Given the description of an element on the screen output the (x, y) to click on. 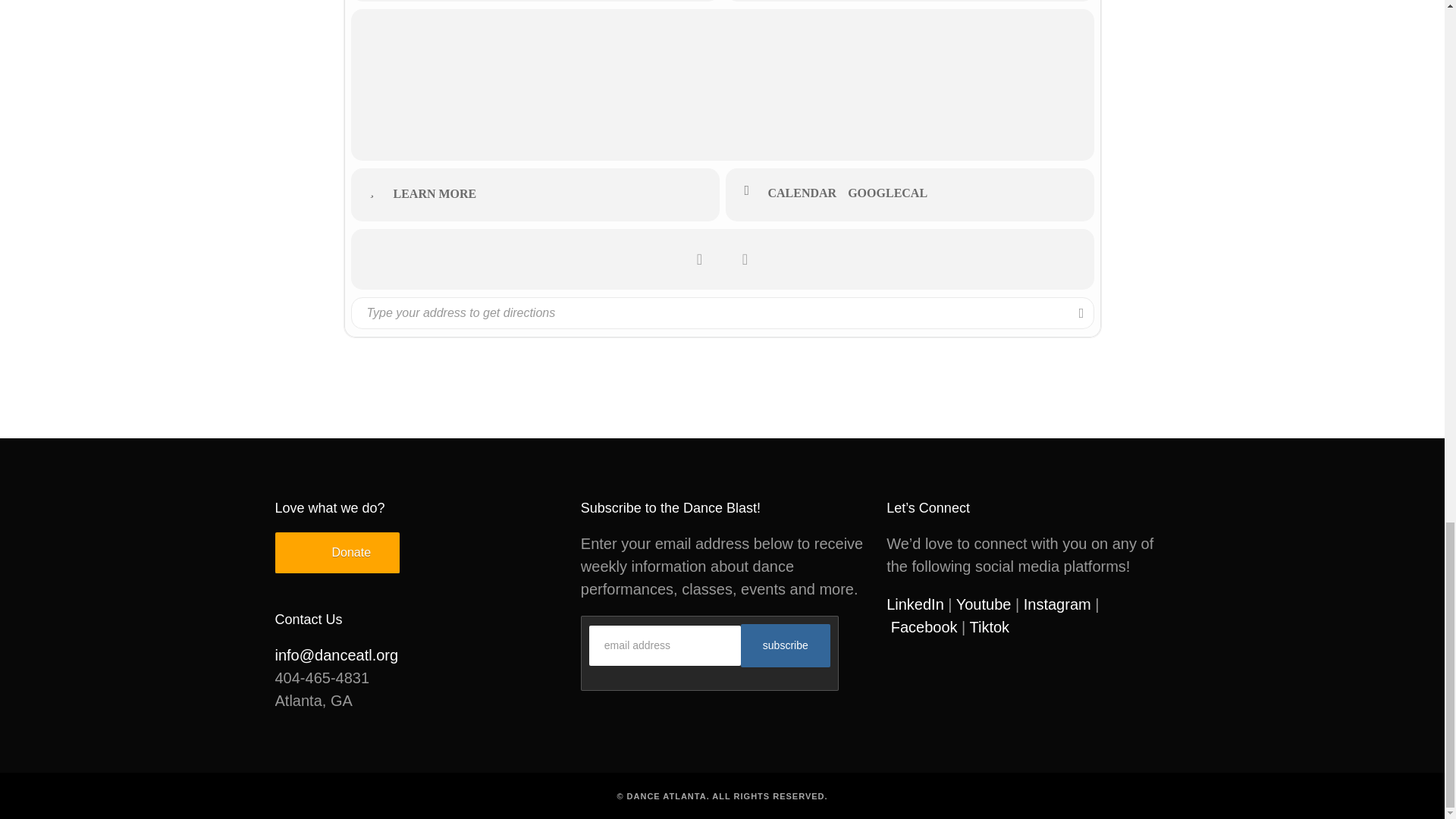
Share on facebook (700, 259)
Add to your calendar (807, 192)
Subscribe (785, 645)
Add to google calendar (893, 192)
